Given the description of an element on the screen output the (x, y) to click on. 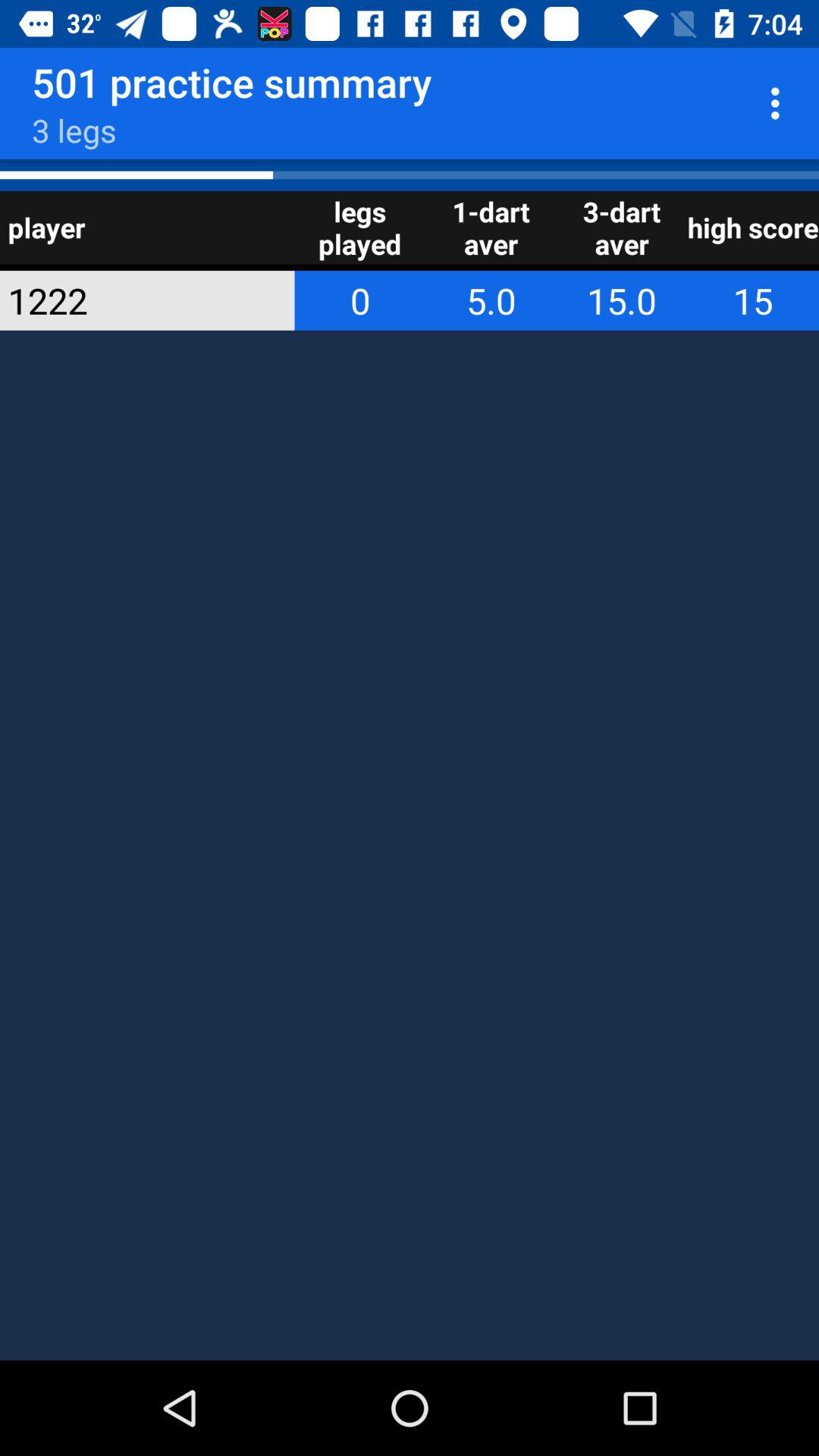
launch 1222 item (126, 300)
